Given the description of an element on the screen output the (x, y) to click on. 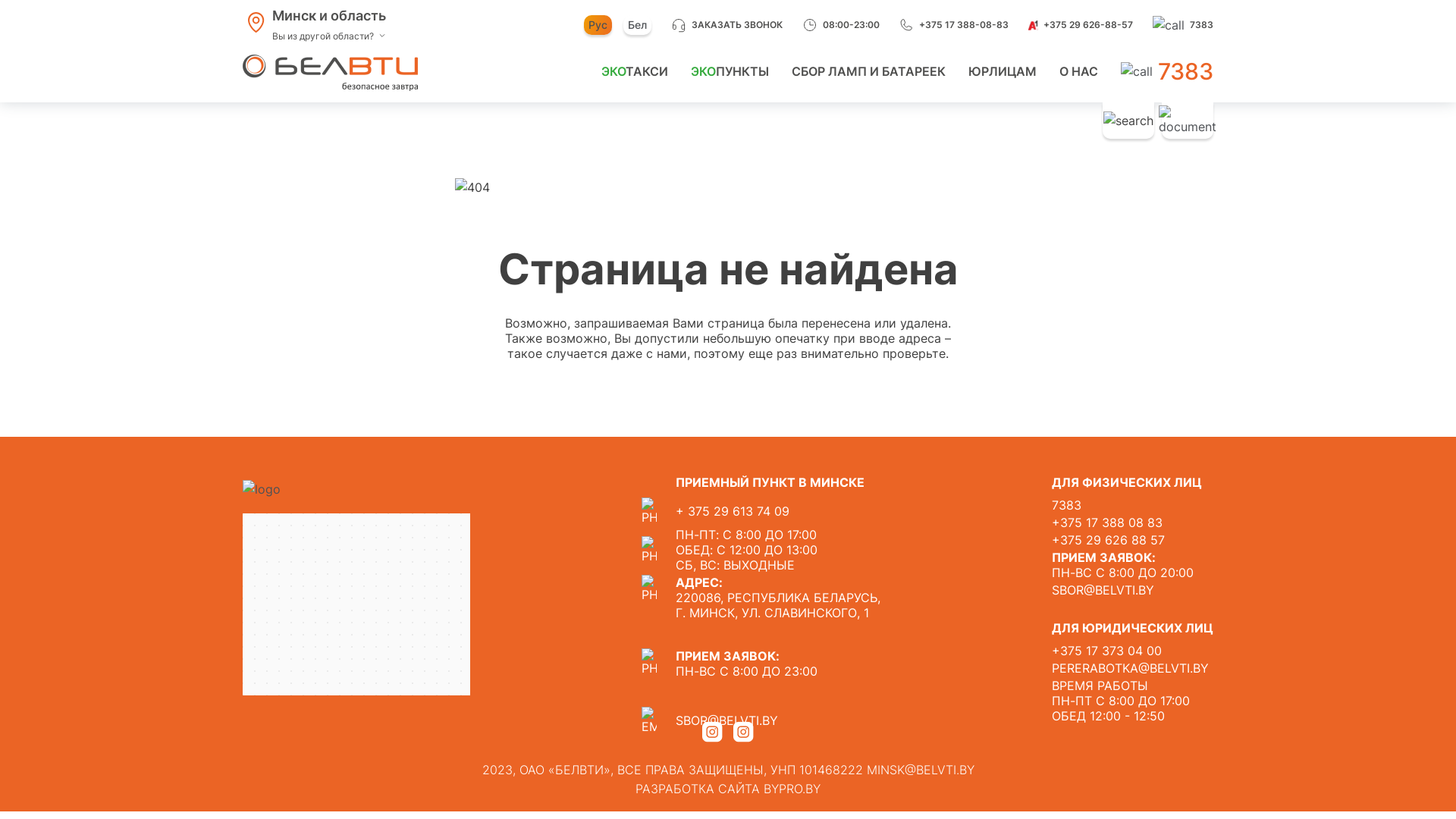
SBOR@BELVTI.BY Element type: text (760, 720)
+375 29 626-88-57 Element type: text (1080, 24)
7383 Element type: text (1166, 71)
+375 29 626 88 57 Element type: text (1132, 539)
7383 Element type: text (1182, 24)
7383 Element type: text (1132, 504)
+375 17 388 08 83 Element type: text (1132, 522)
+ 375 29 613 74 09 Element type: text (760, 510)
PERERABOTKA@BELVTI.BY Element type: text (1132, 667)
SBOR@BELVTI.BY Element type: text (1132, 589)
+375 17 388-08-83 Element type: text (953, 24)
+375 17 373 04 00 Element type: text (1132, 650)
